Given the description of an element on the screen output the (x, y) to click on. 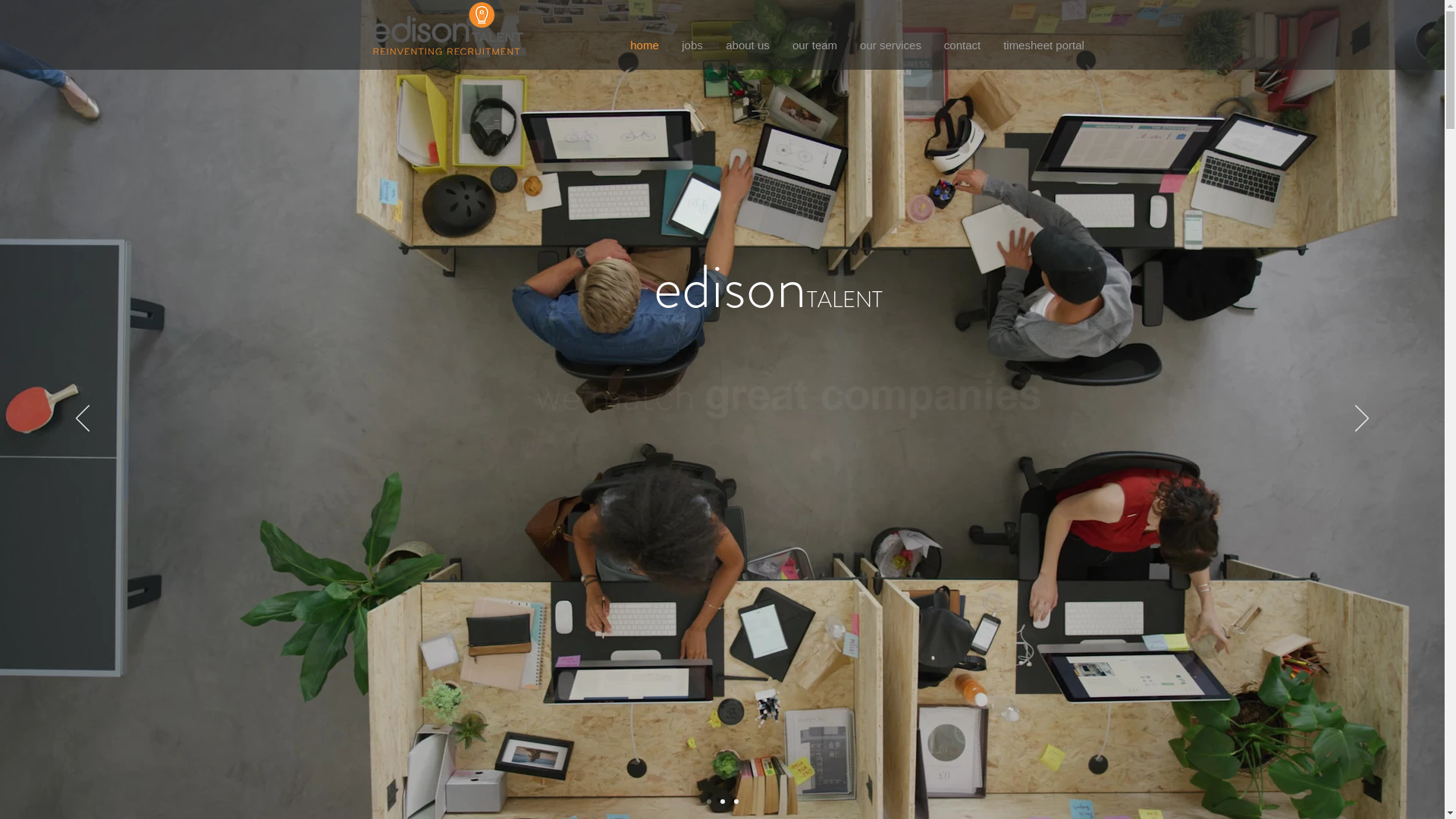
Edison Talent Element type: hover (447, 27)
jobs Element type: text (692, 45)
home Element type: text (644, 45)
timesheet portal Element type: text (1043, 45)
contact Element type: text (961, 45)
about us Element type: text (747, 45)
our team Element type: text (814, 45)
our services Element type: text (890, 45)
